Given the description of an element on the screen output the (x, y) to click on. 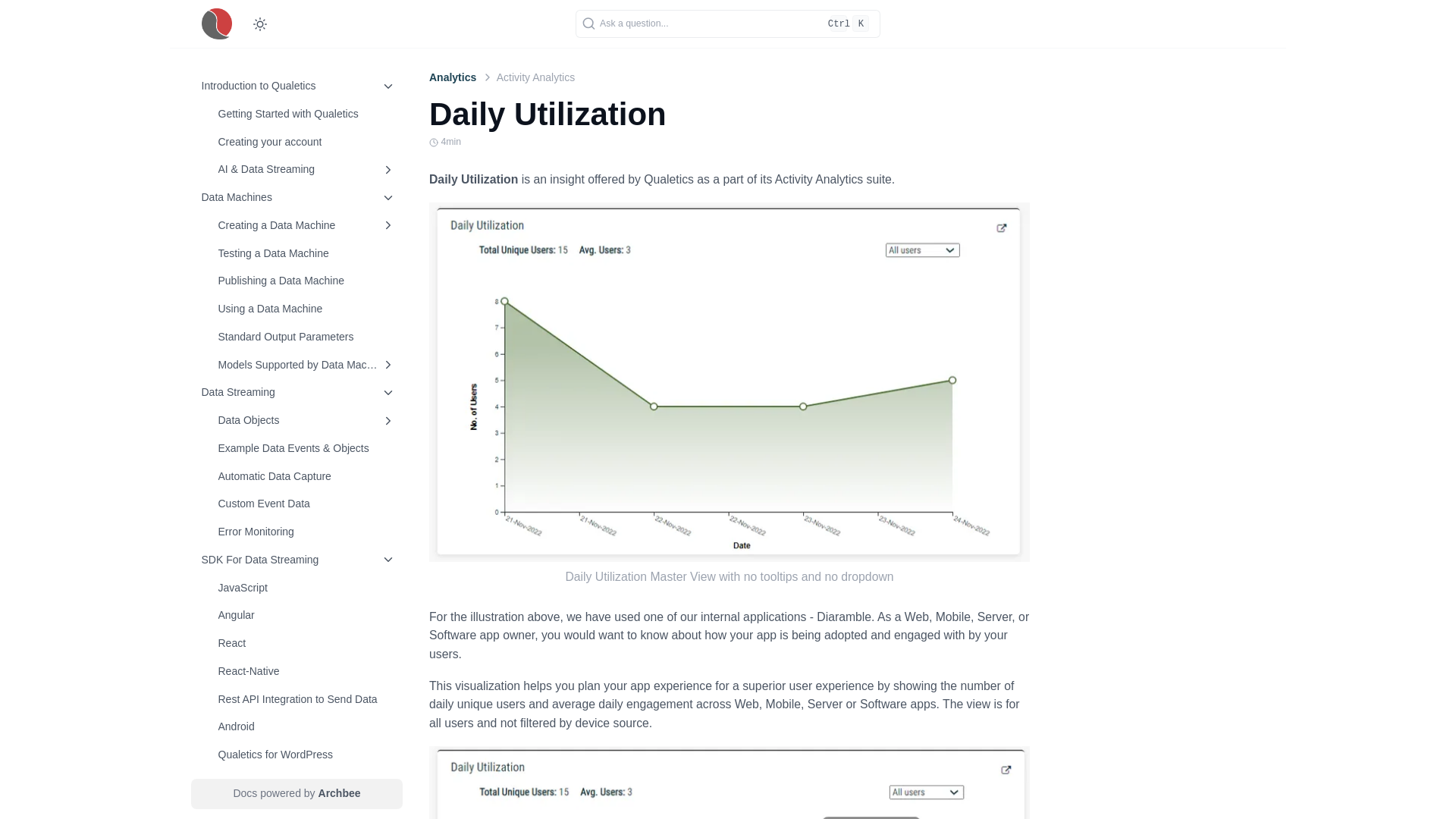
Creating a Data Machine (277, 224)
Creating a Data Machine (309, 224)
Creating your account (269, 141)
Standard Output Parameters (309, 335)
JavaScript (309, 587)
Data Streaming (301, 392)
Rest API Integration to Send Data (309, 698)
Publishing a Data Machine (281, 280)
Custom Event Data (309, 503)
Getting Started with Qualetics (302, 112)
Getting Started with Qualetics (309, 112)
Introduction to Qualetics (302, 127)
Creating a Data Machine (302, 224)
Using a Data Machine (302, 308)
Models Supported by Data Machines (309, 364)
